Given the description of an element on the screen output the (x, y) to click on. 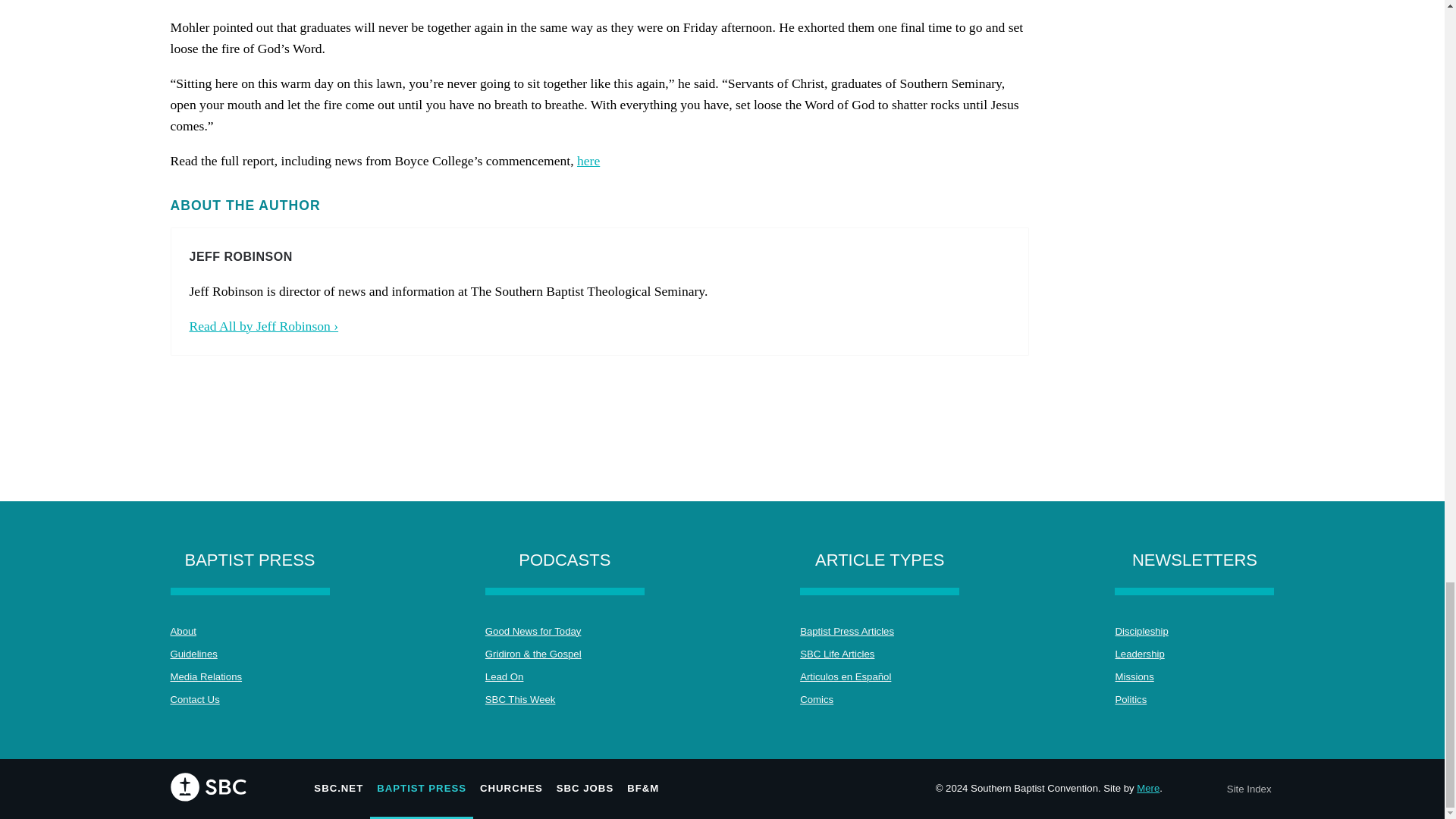
here (587, 160)
